Given the description of an element on the screen output the (x, y) to click on. 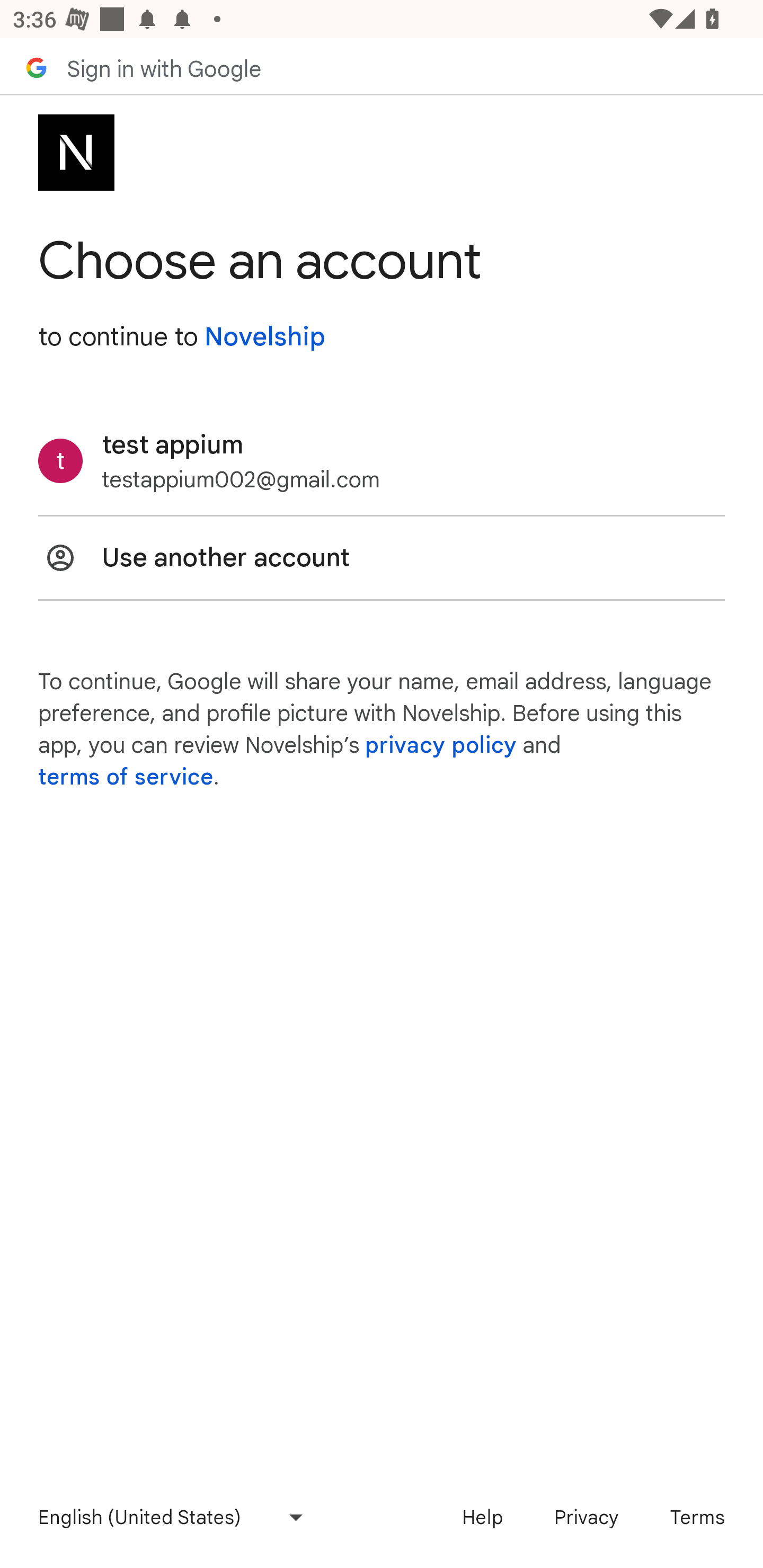
Novelship (264, 336)
Use another account (381, 556)
privacy policy (440, 744)
terms of service (126, 776)
Help (481, 1517)
Privacy (586, 1517)
Terms (696, 1517)
